Given the description of an element on the screen output the (x, y) to click on. 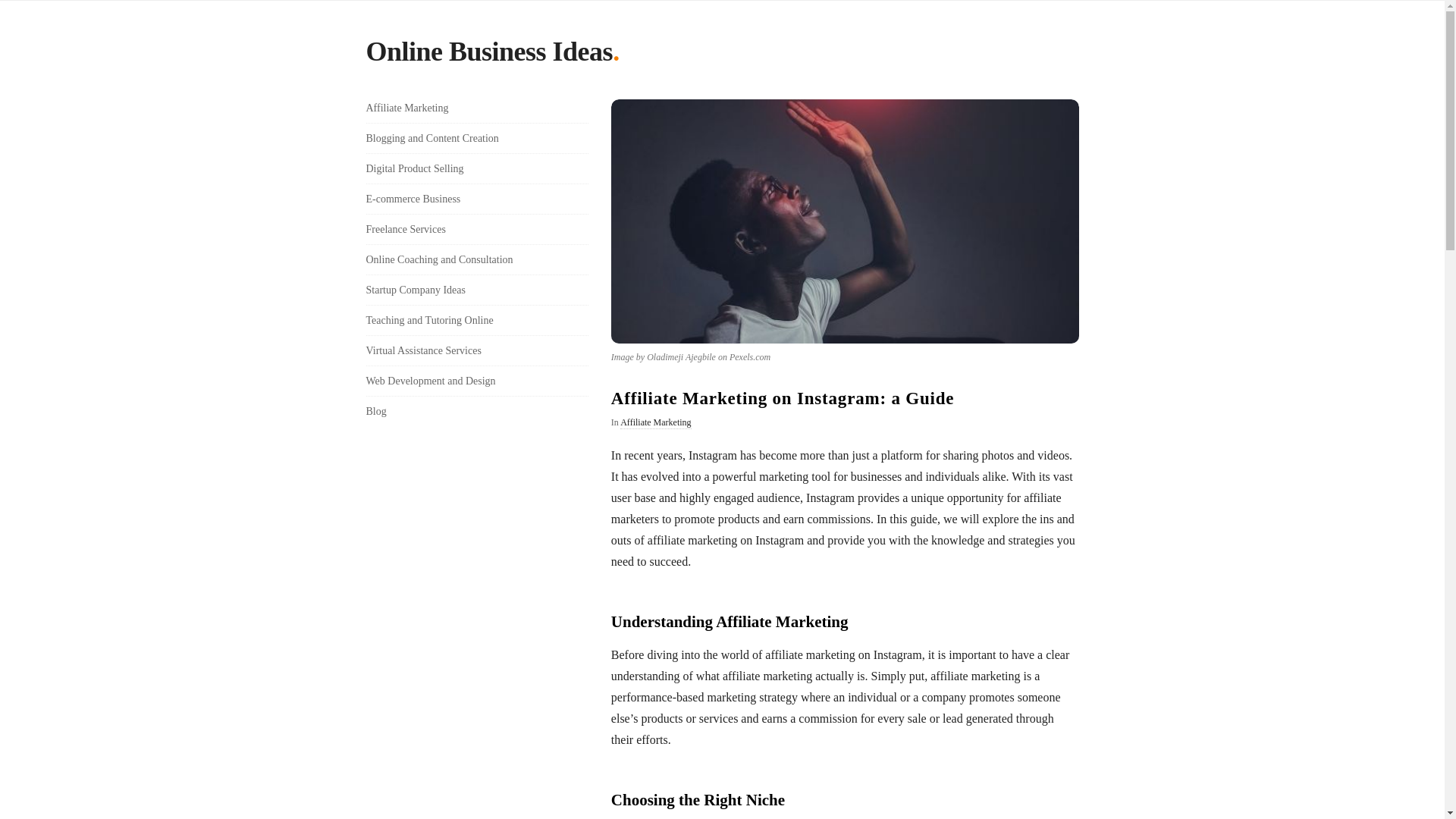
Web Development and Design (430, 380)
Blog (375, 410)
Online Coaching and Consultation (438, 259)
Freelance Services (405, 229)
Teaching and Tutoring Online (429, 319)
Digital Product Selling (414, 168)
Affiliate Marketing (655, 422)
Startup Company Ideas (414, 289)
Online Business Ideas (488, 55)
Online Business Ideas (488, 55)
Affiliate Marketing (406, 107)
Blogging and Content Creation (431, 138)
Virtual Assistance Services (422, 350)
E-commerce Business (412, 198)
